Given the description of an element on the screen output the (x, y) to click on. 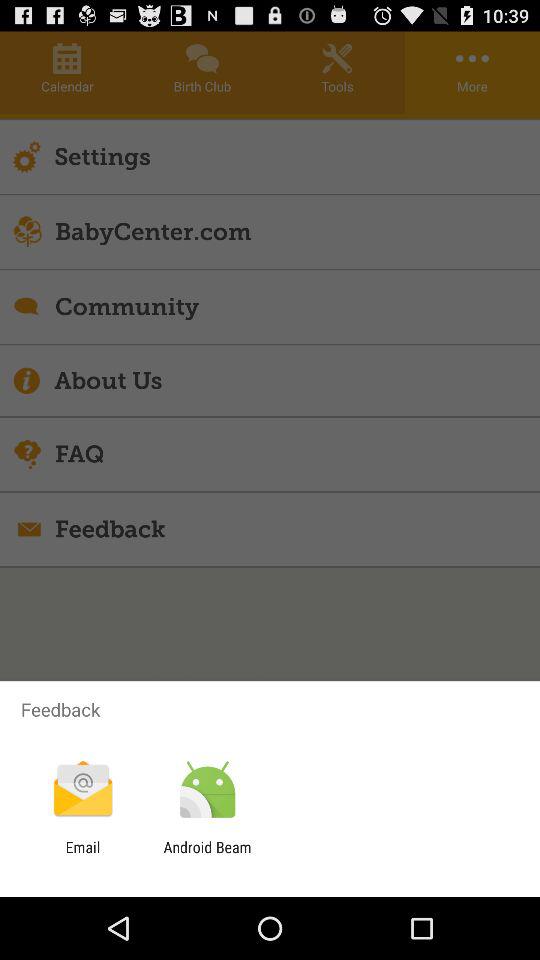
jump to android beam (207, 856)
